Given the description of an element on the screen output the (x, y) to click on. 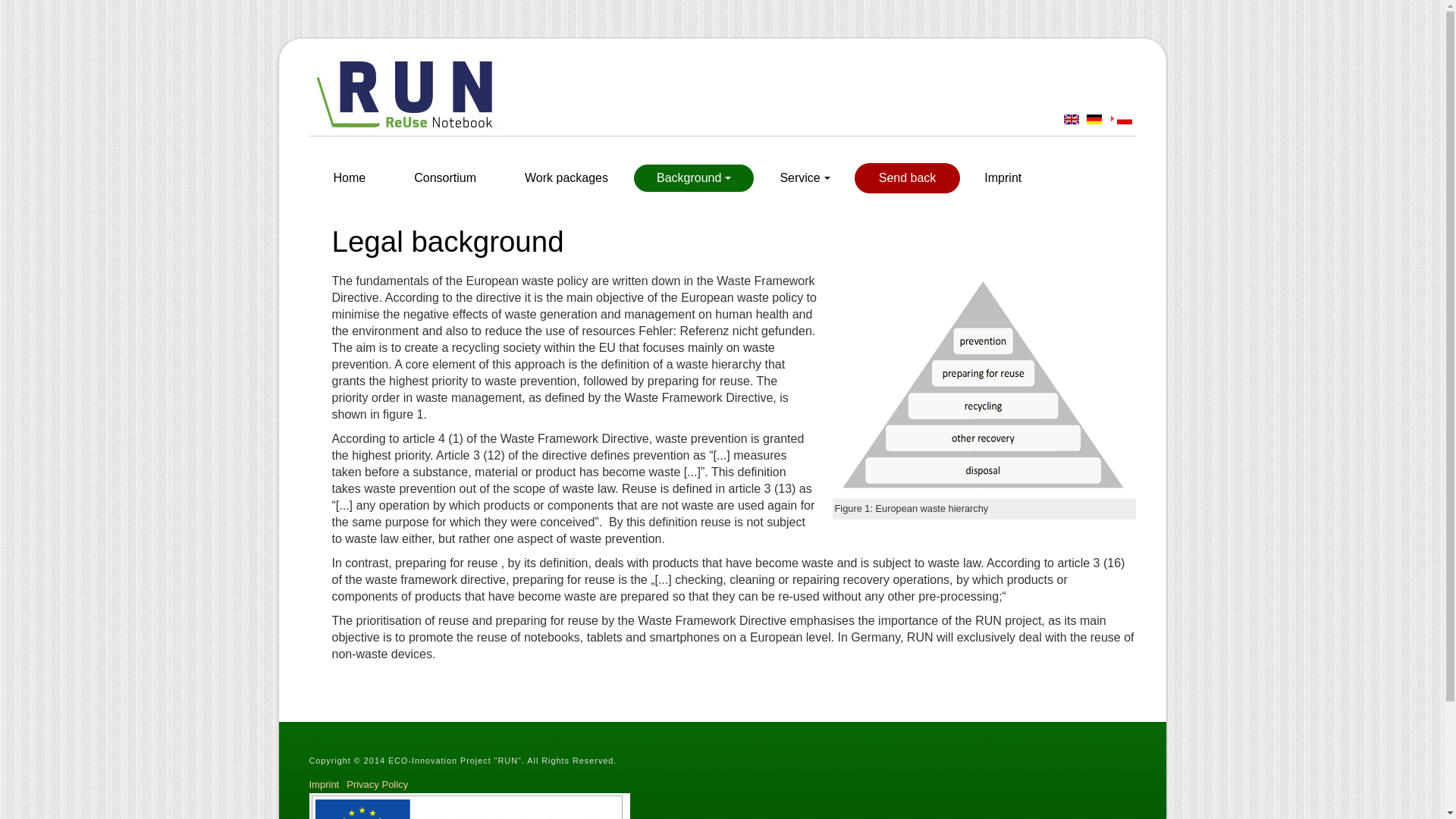
Background (693, 177)
Deutsch (1093, 119)
Send back (907, 177)
Imprint (327, 784)
Service (804, 177)
Imprint (1001, 177)
English (1070, 119)
Consortium (445, 177)
Privacy Policy (380, 784)
Polski (1123, 119)
